Given the description of an element on the screen output the (x, y) to click on. 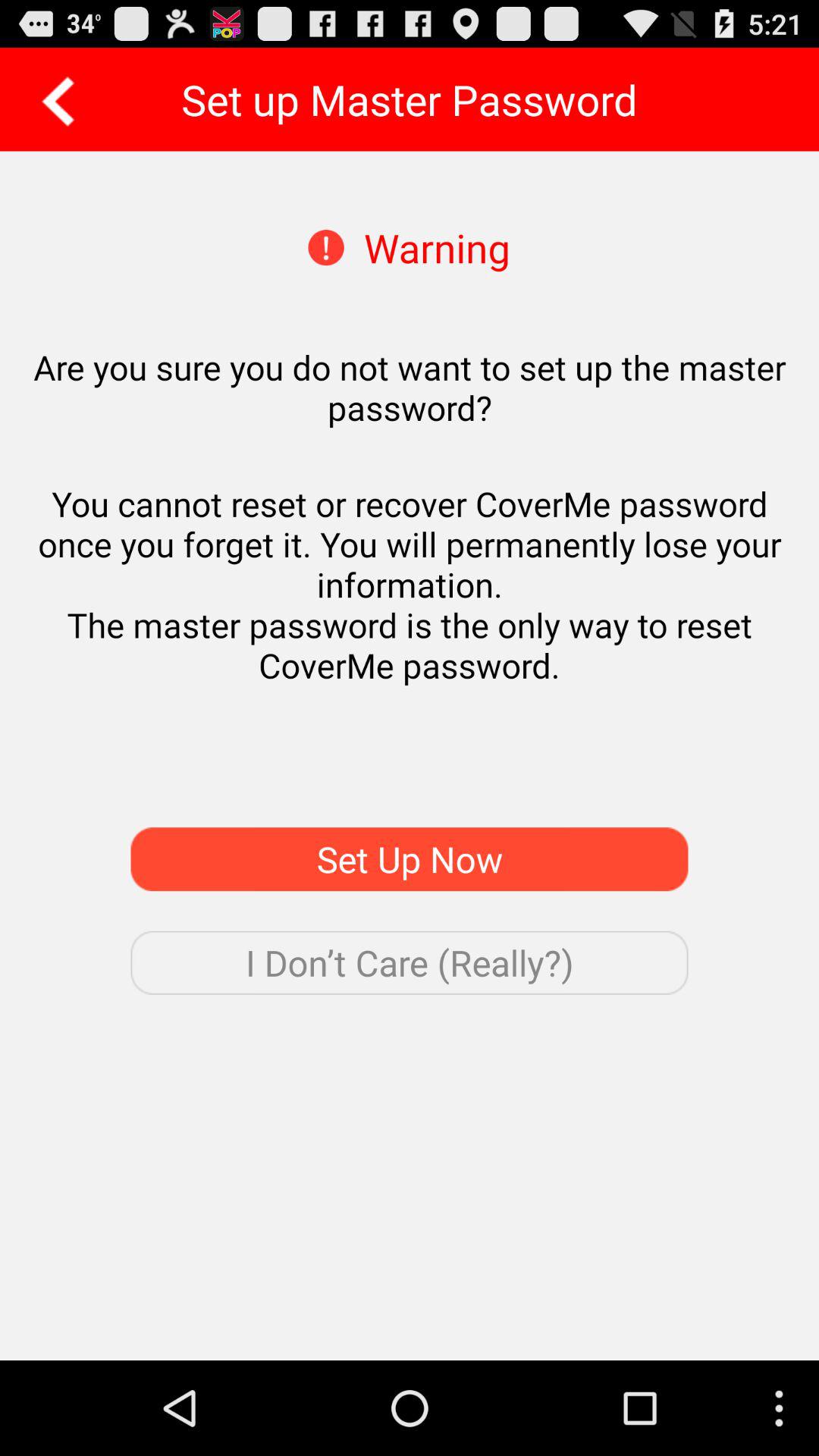
select app below the set up now app (409, 962)
